Given the description of an element on the screen output the (x, y) to click on. 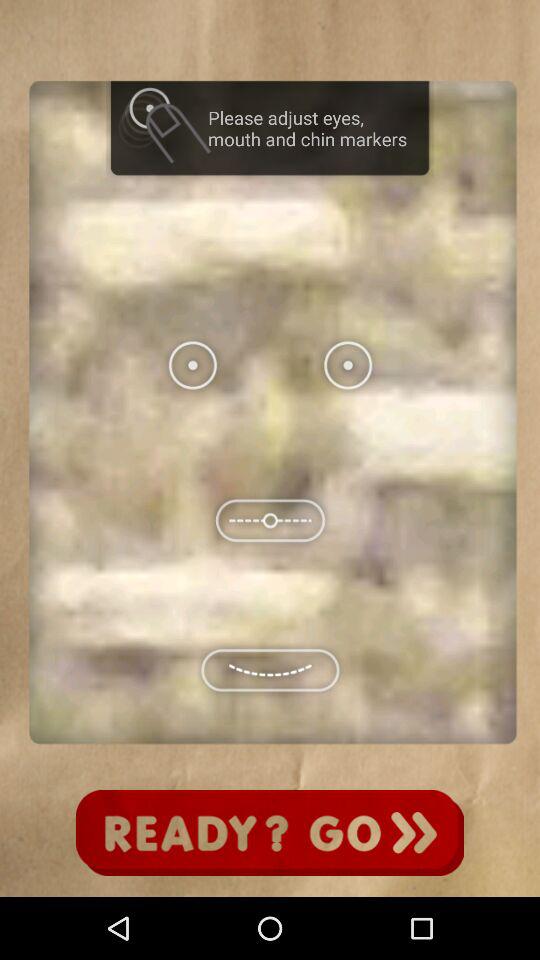
go button (269, 833)
